Given the description of an element on the screen output the (x, y) to click on. 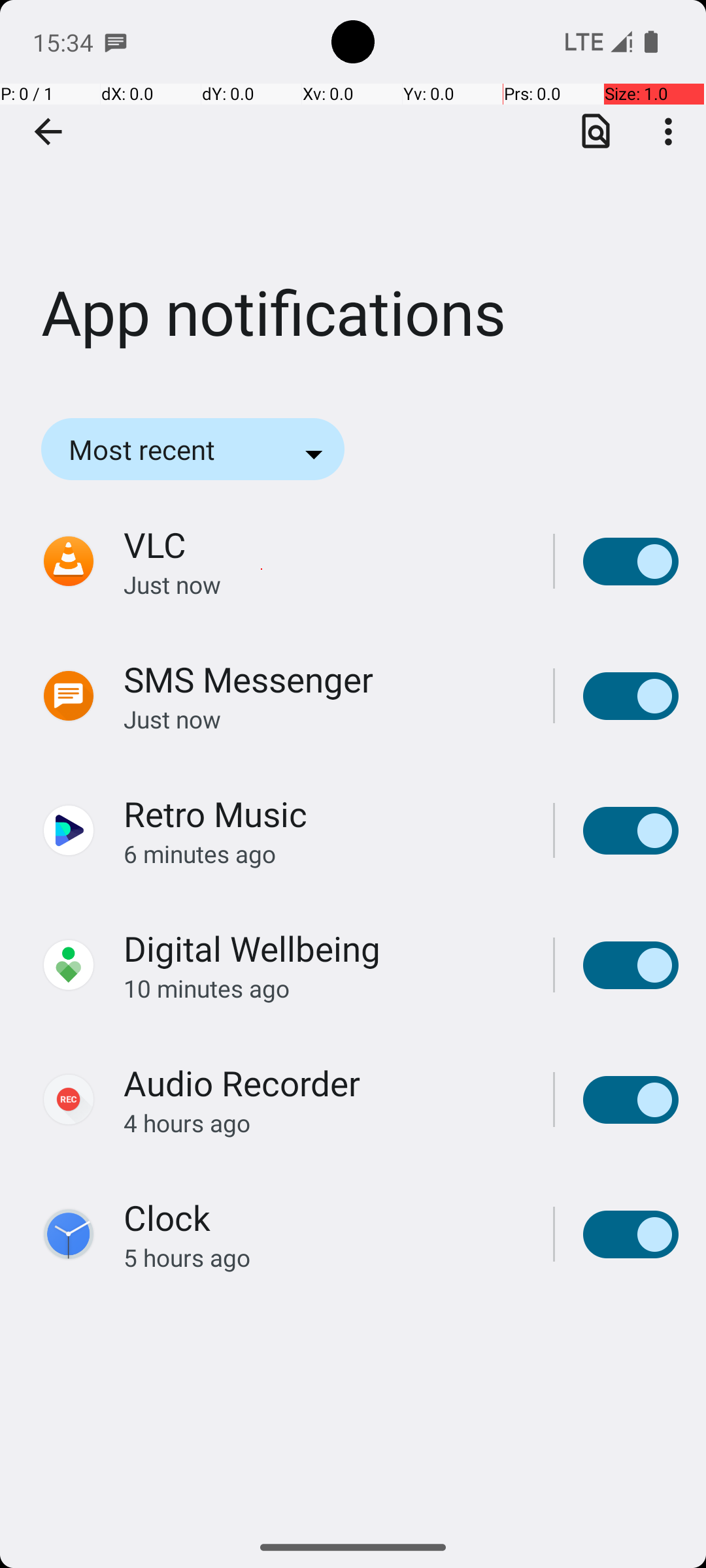
App notifications Element type: android.widget.FrameLayout (353, 195)
Most recent Element type: android.widget.TextView (159, 448)
Just now Element type: android.widget.TextView (324, 584)
6 minutes ago Element type: android.widget.TextView (324, 853)
Digital Wellbeing Element type: android.widget.TextView (252, 948)
10 minutes ago Element type: android.widget.TextView (324, 987)
4 hours ago Element type: android.widget.TextView (324, 1122)
5 hours ago Element type: android.widget.TextView (324, 1257)
SMS Messenger notification: Theodore Chen Element type: android.widget.ImageView (115, 41)
